Given the description of an element on the screen output the (x, y) to click on. 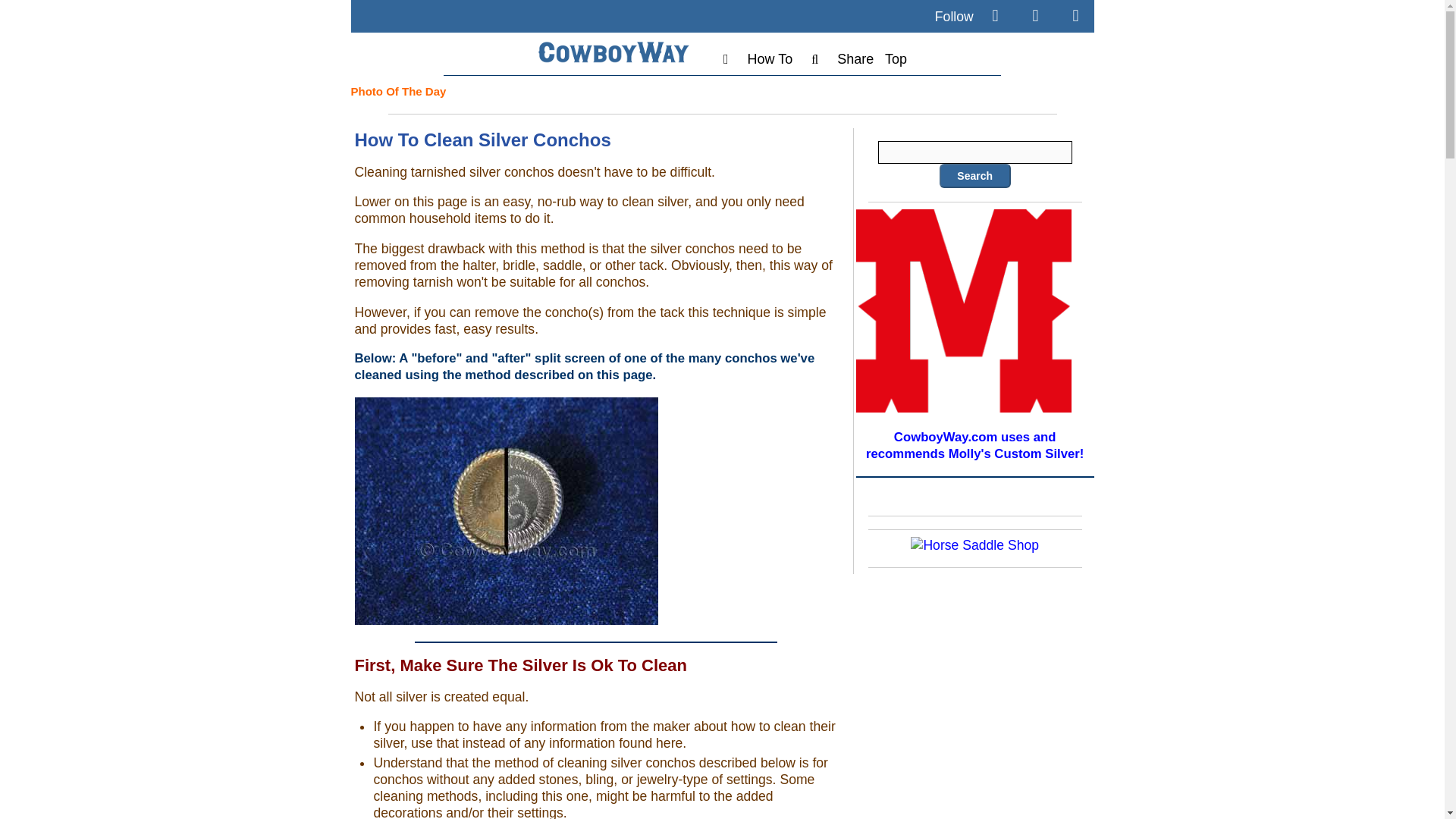
How To (770, 58)
Photo Of The Day (397, 91)
Share (855, 58)
Top (896, 58)
